Given the description of an element on the screen output the (x, y) to click on. 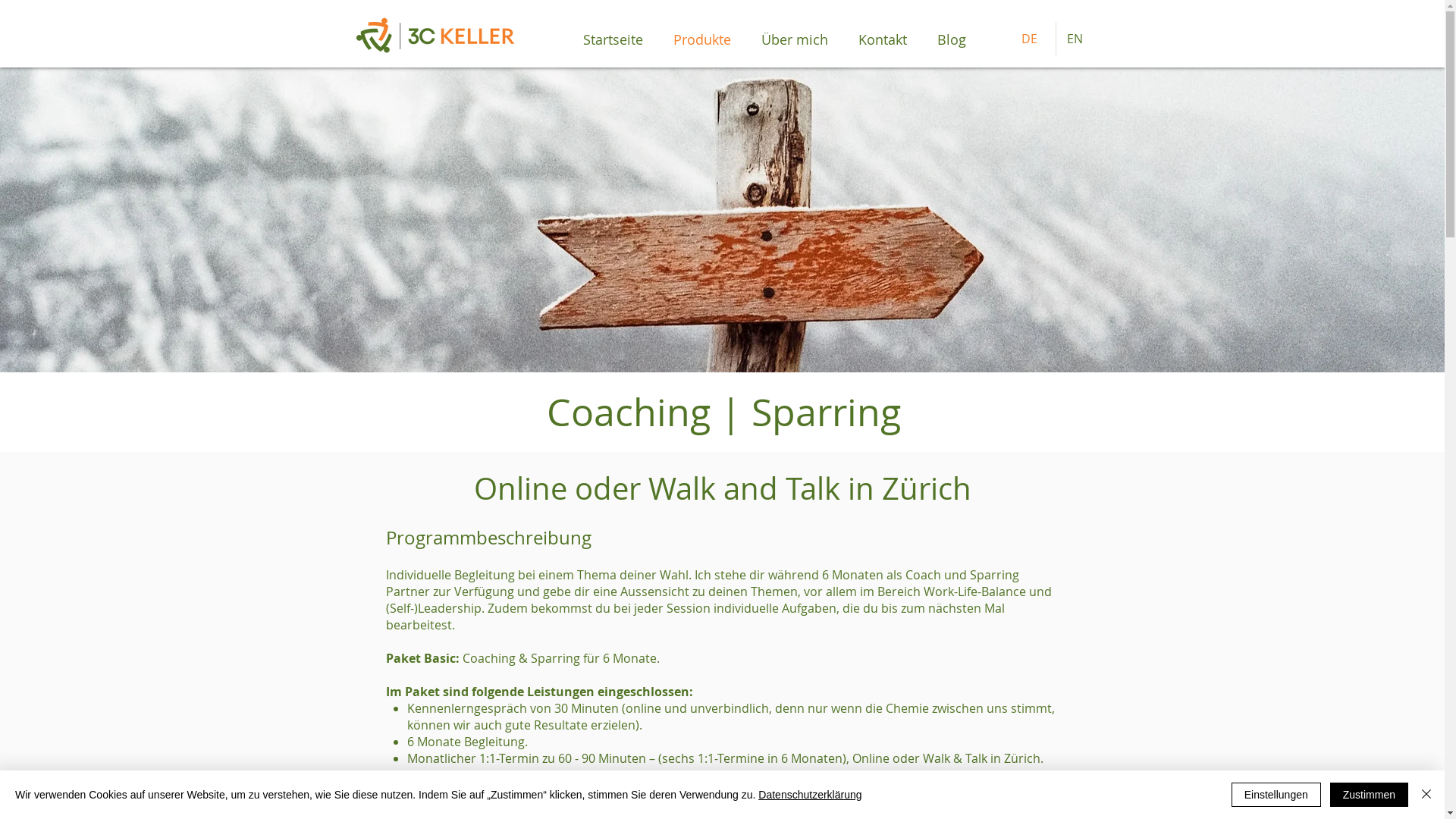
Blog Element type: text (951, 38)
EN Element type: text (1078, 38)
Produkte Element type: text (702, 38)
DE Element type: text (1032, 38)
Einstellungen Element type: text (1276, 794)
Zustimmen Element type: text (1369, 794)
Startseite Element type: text (612, 38)
Kontakt Element type: text (882, 38)
